Given the description of an element on the screen output the (x, y) to click on. 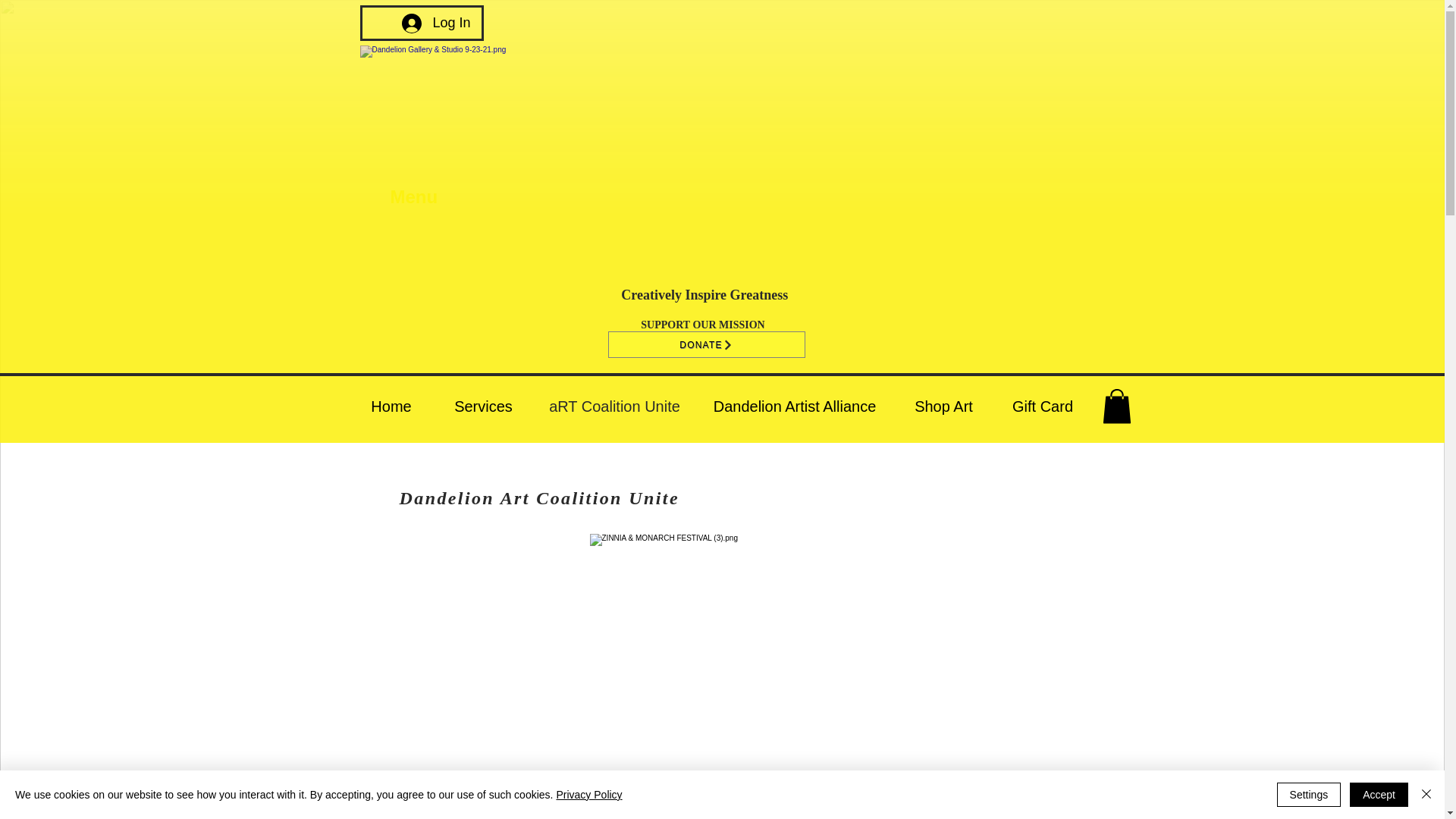
aRT Coalition Unite (614, 406)
DONATE (706, 344)
Dandelion Artist Alliance (793, 406)
Services (483, 406)
Log In (435, 23)
Home (391, 406)
